Given the description of an element on the screen output the (x, y) to click on. 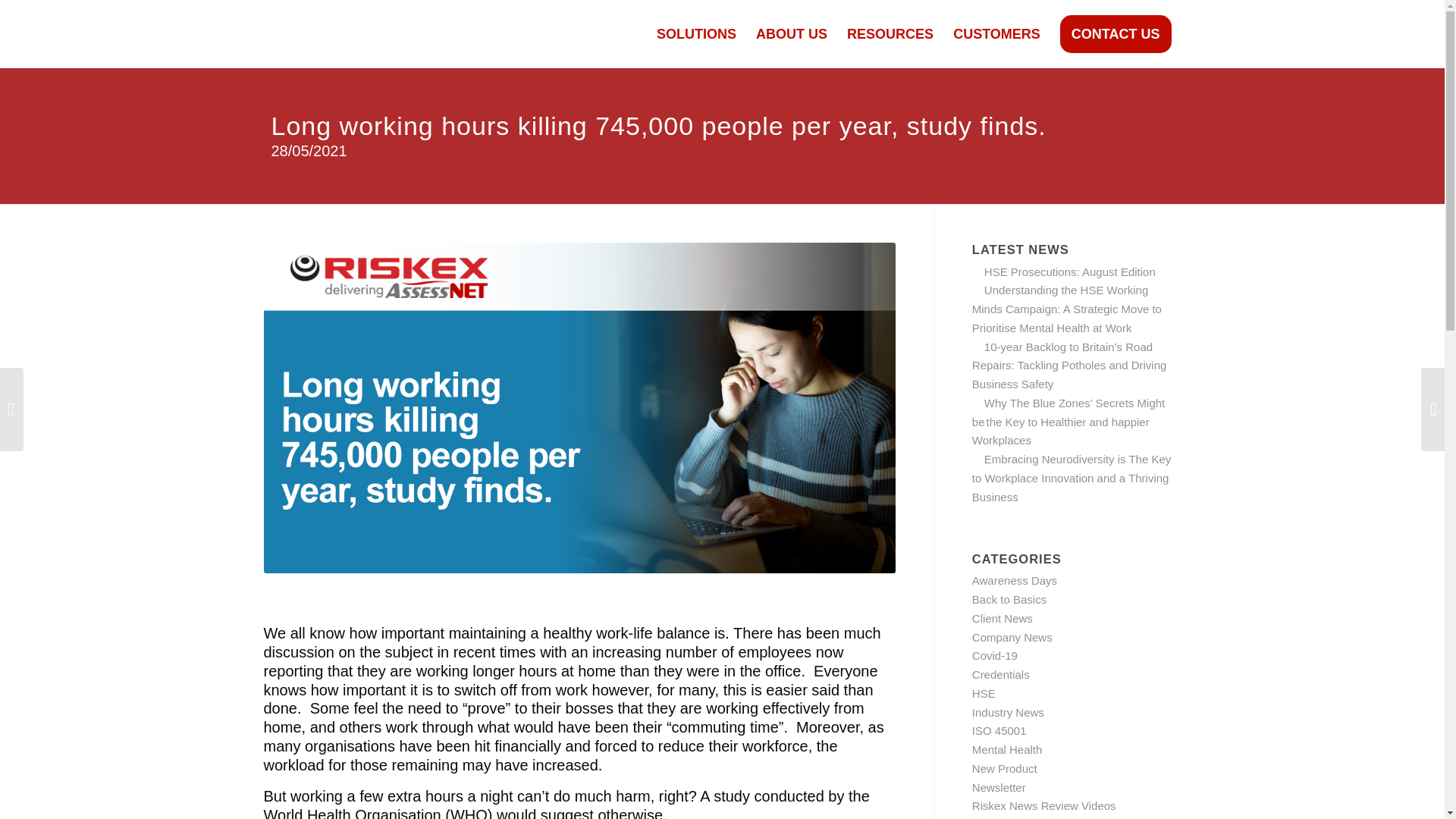
ABOUT US (791, 33)
RESOURCES (890, 33)
SOLUTIONS (695, 33)
